Given the description of an element on the screen output the (x, y) to click on. 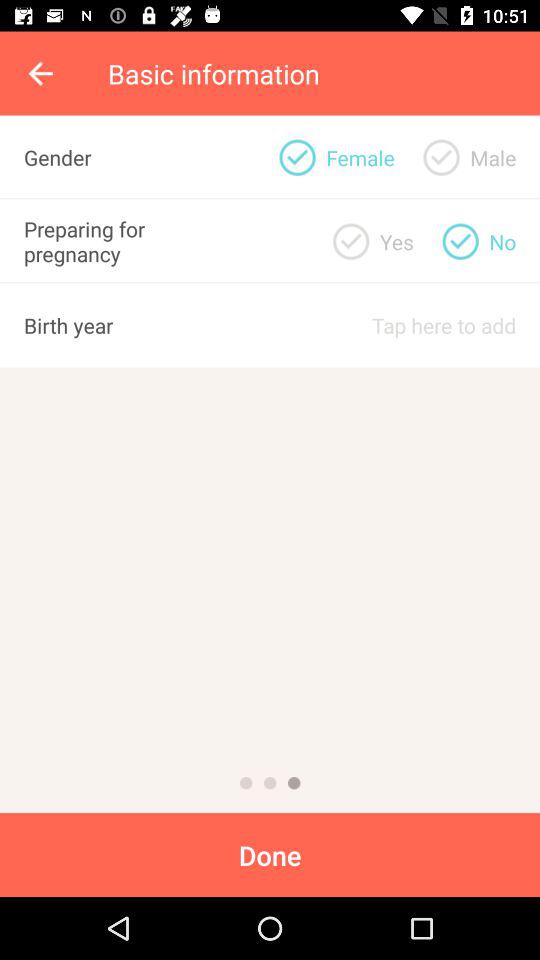
yes selection (351, 241)
